Given the description of an element on the screen output the (x, y) to click on. 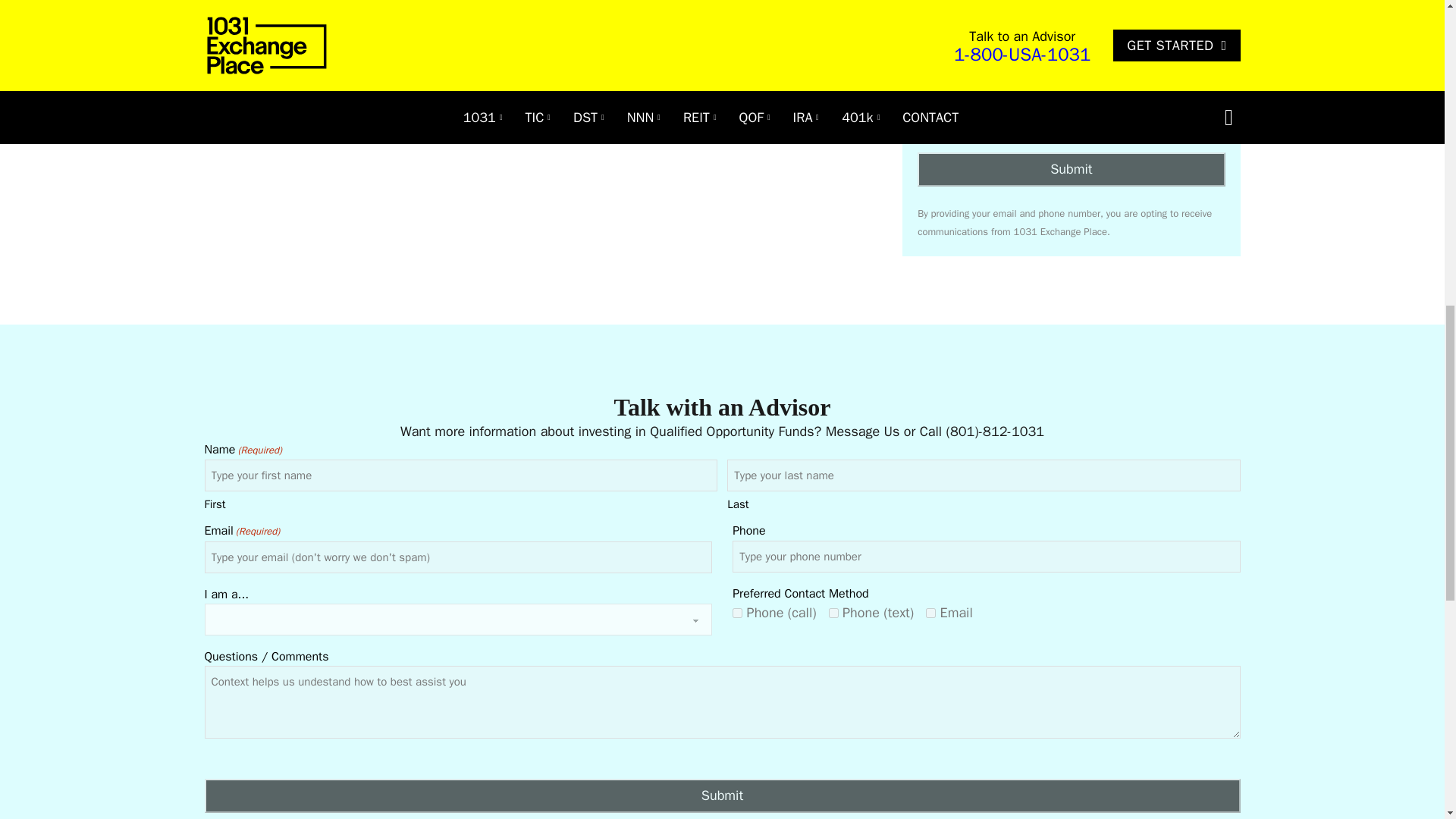
Email (931, 613)
Submit (1070, 169)
Email (1115, 52)
Submit (722, 795)
